Given the description of an element on the screen output the (x, y) to click on. 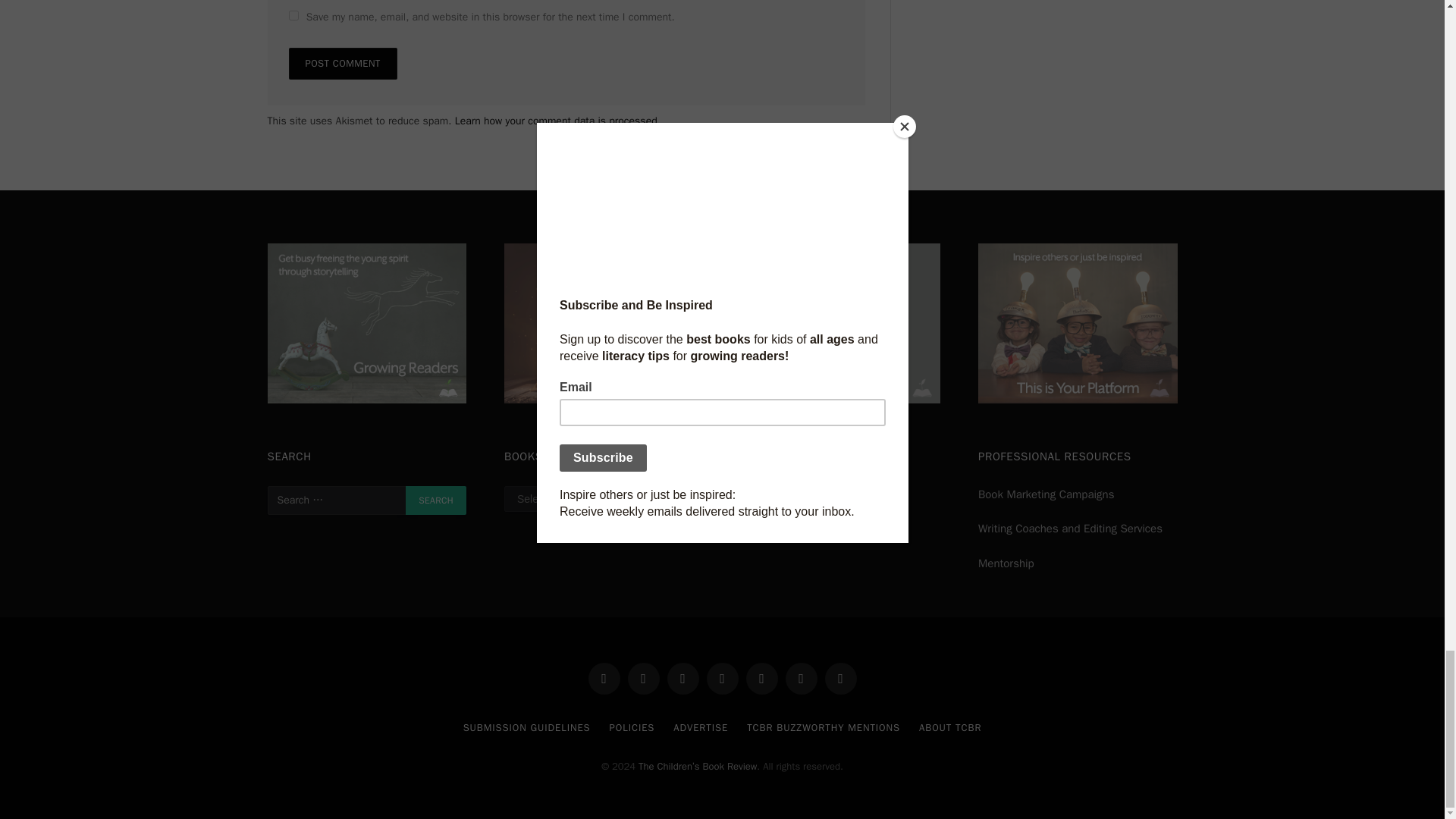
Search (435, 500)
yes (293, 15)
Post Comment (342, 63)
Search (435, 500)
